Given the description of an element on the screen output the (x, y) to click on. 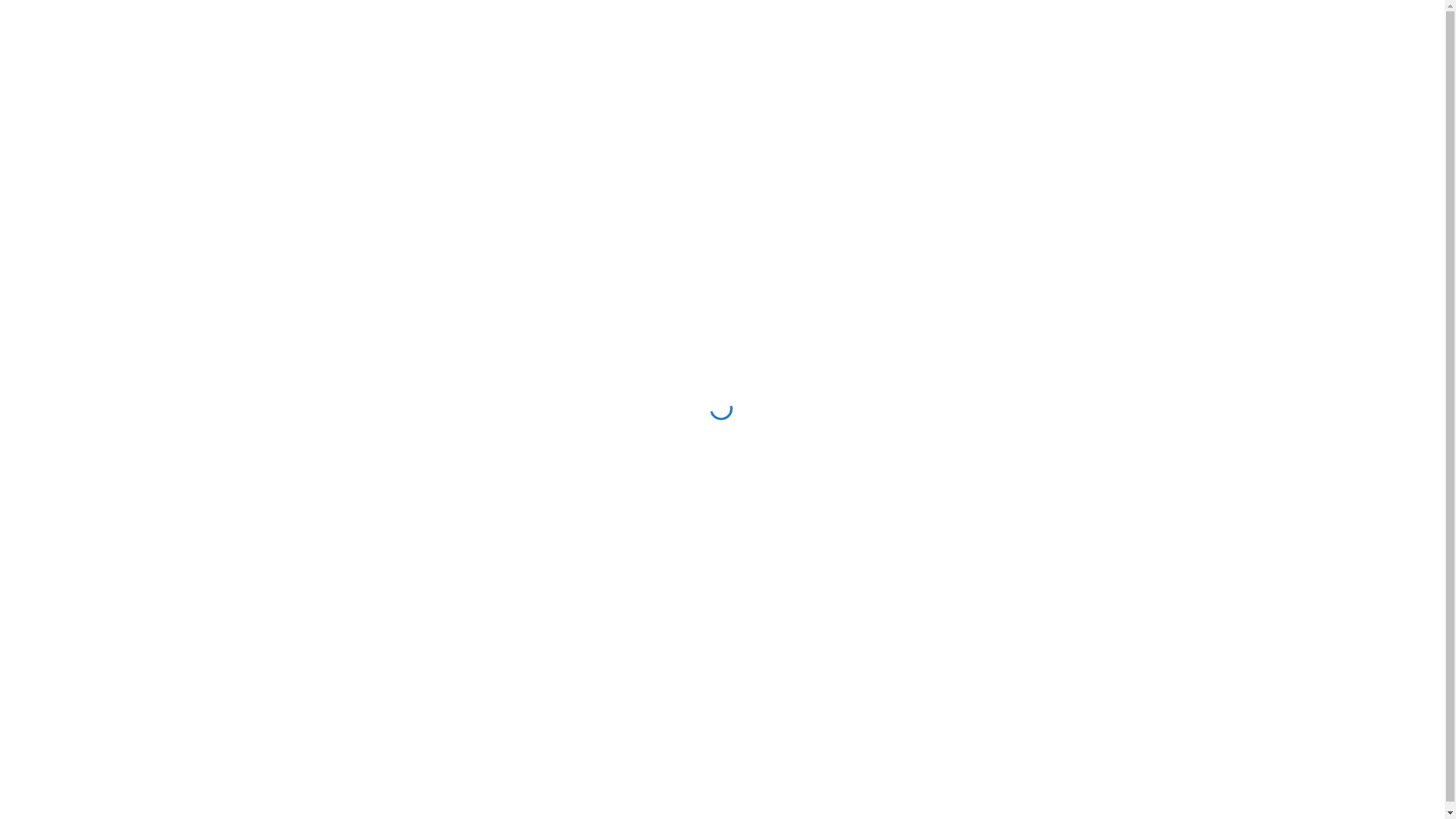
LinkedIn Element type: text (666, 602)
News Element type: text (246, 119)
Contacts Element type: text (315, 119)
Pinterest Element type: text (375, 602)
December 18, 2019 Element type: text (308, 565)
info@albatec.ca Element type: text (946, 790)
Google+ Element type: text (638, 602)
Twitter Element type: text (610, 602)
Home Element type: text (31, 119)
(780) 399-8324 Element type: text (1102, 58)
Twitter Element type: text (295, 602)
Order A Service Element type: text (1366, 51)
December 17, 2016 Element type: text (623, 521)
Services Element type: text (179, 119)
Read More Element type: text (606, 641)
New ransomware strain targets Western countries, says report Element type: text (712, 456)
Liridon Element type: text (707, 521)
Facebook Element type: text (586, 602)
About Us Element type: text (102, 119)
Liridon Element type: text (393, 565)
Google+ Element type: text (323, 602)
Read More Element type: text (291, 641)
LinkedIn Element type: text (350, 602)
Pinterest Element type: text (691, 602)
(780) 399-8324 Element type: text (812, 790)
Facebook Element type: text (271, 602)
